Given the description of an element on the screen output the (x, y) to click on. 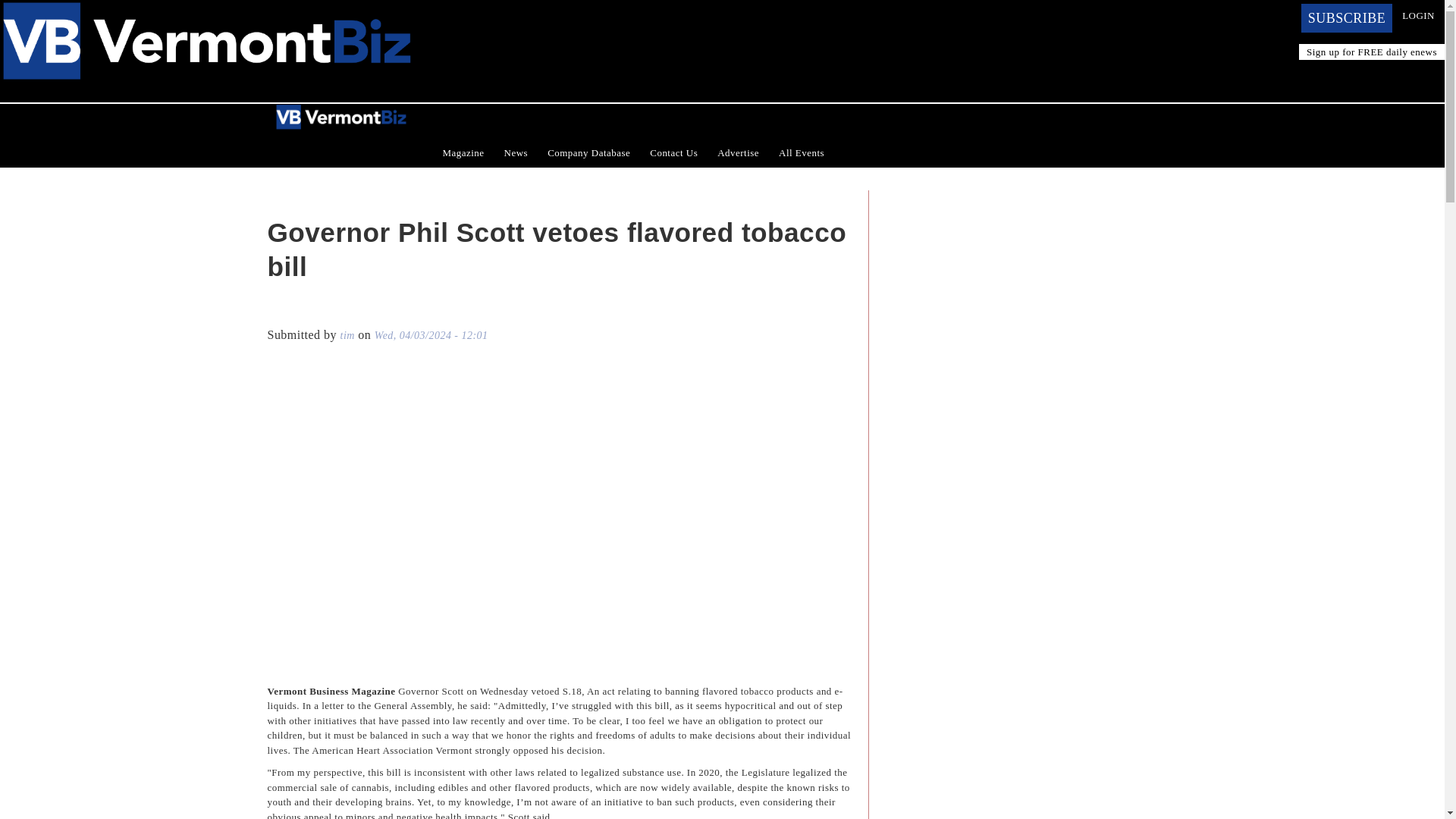
Share to Facebook (277, 312)
Home (206, 8)
LOGIN (1418, 15)
Company Database (588, 152)
SUBSCRIBE (1346, 18)
Share to X (298, 312)
Wednesday, April 3, 2024 - 12:01 (430, 335)
Magazine (462, 152)
News (516, 152)
